Given the description of an element on the screen output the (x, y) to click on. 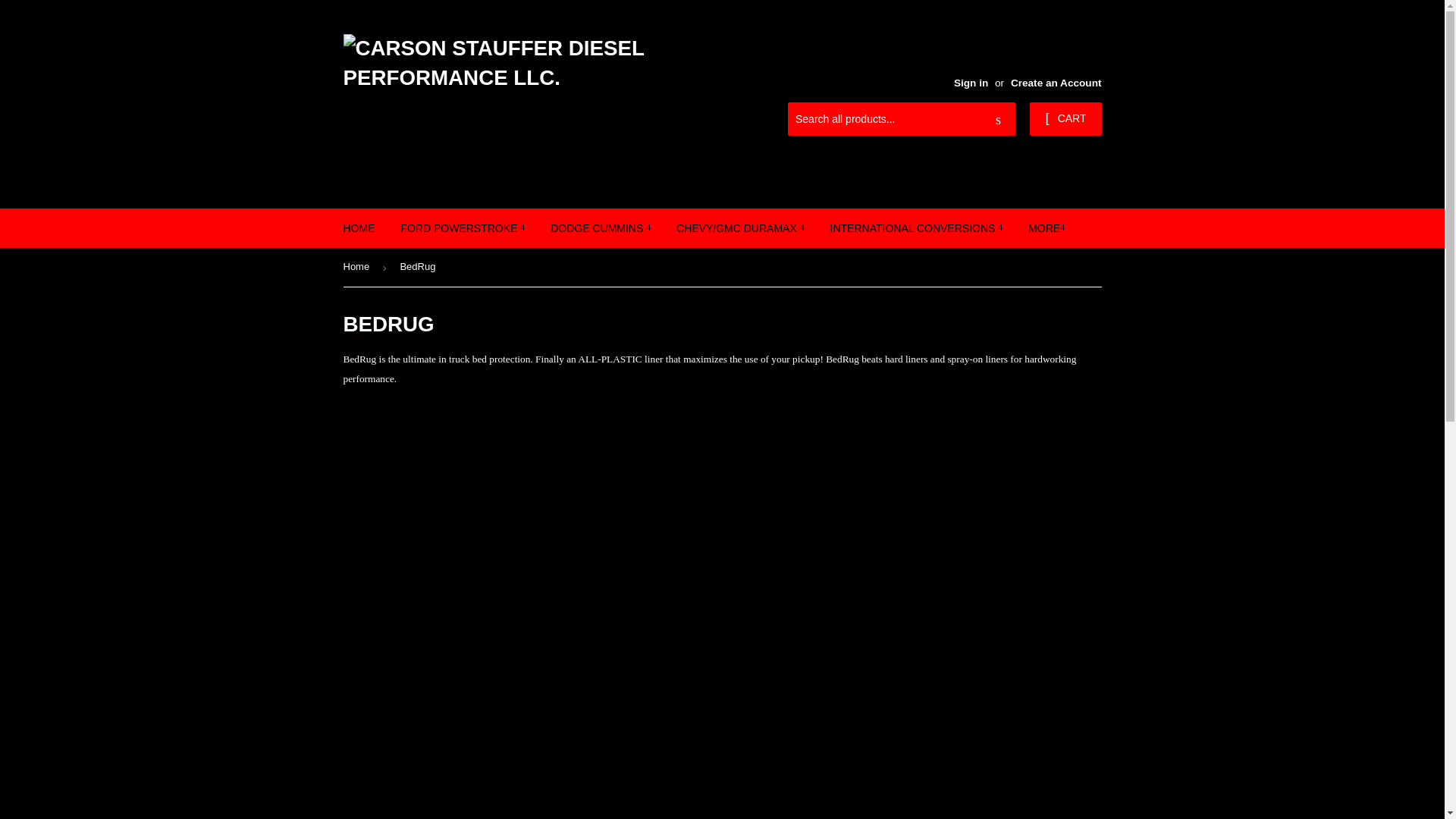
Create an Account (1056, 82)
CART (1064, 118)
Search (997, 119)
Back to the frontpage (358, 267)
Sign in (970, 82)
